Given the description of an element on the screen output the (x, y) to click on. 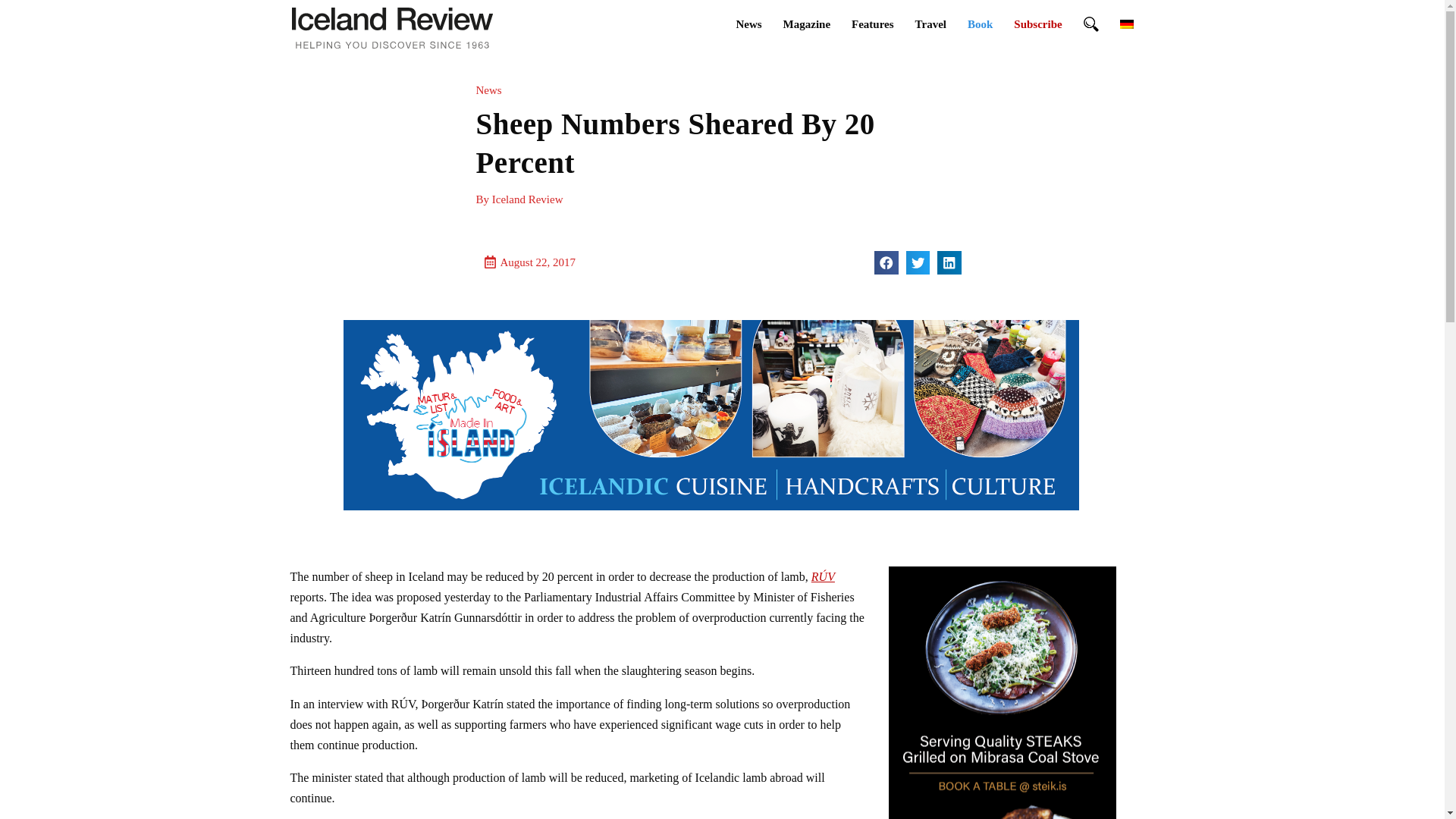
Travel (930, 23)
Features (872, 23)
News (748, 23)
Magazine (807, 23)
Book (979, 23)
Subscribe (1037, 23)
